Given the description of an element on the screen output the (x, y) to click on. 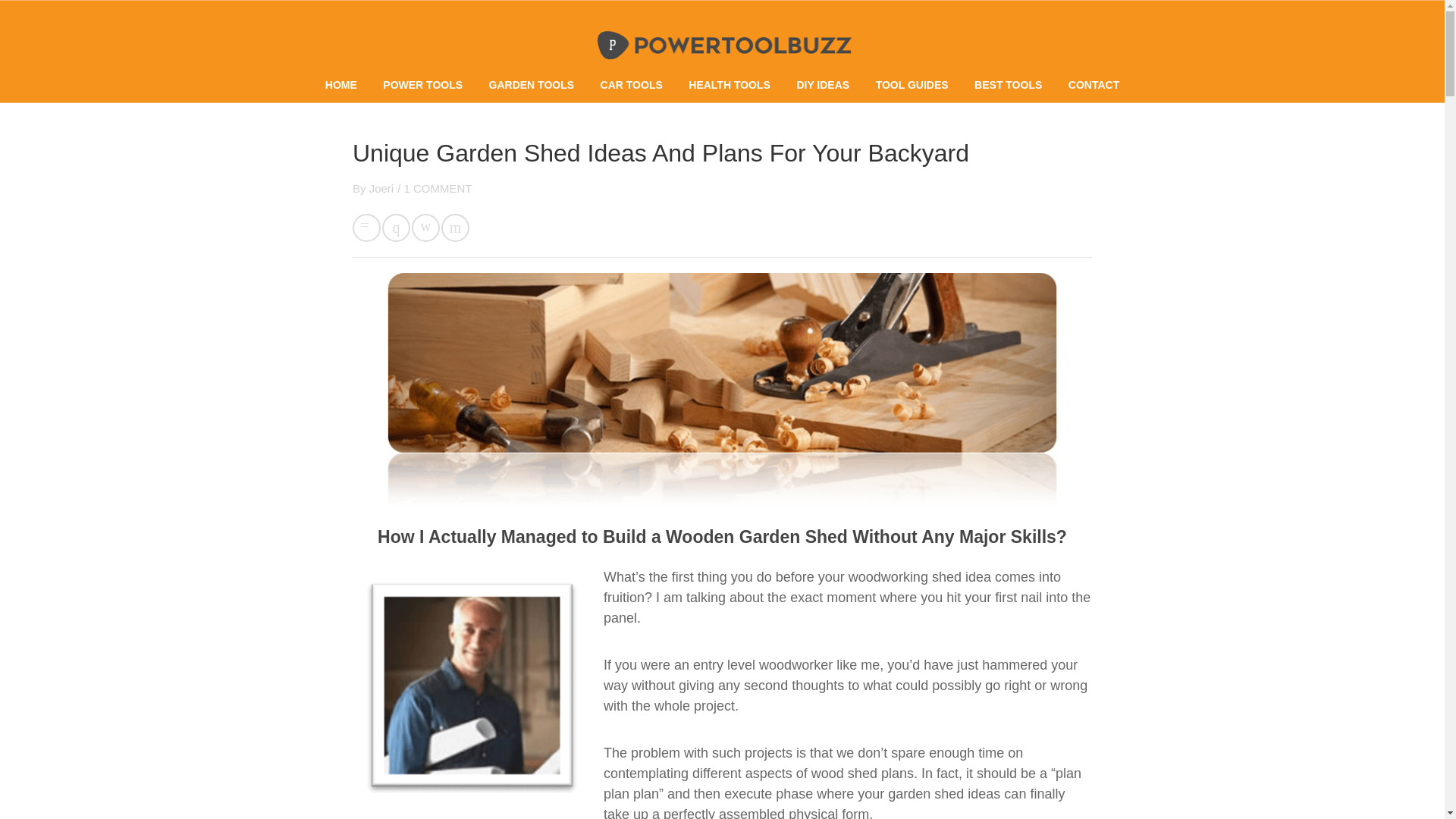
CONTACT (1093, 84)
Powertool Categories (422, 84)
POWER TOOLS (422, 84)
BEST TOOLS (1008, 84)
HEALTH TOOLS (729, 84)
HOME (340, 84)
Garden Tool Categories (532, 84)
DIY Ideas (822, 84)
1 COMMENT (437, 187)
GARDEN TOOLS (532, 84)
Powertool Guides (912, 84)
CAR TOOLS (630, 84)
Joeri (381, 187)
DIY IDEAS (822, 84)
TOOL GUIDES (912, 84)
